Given the description of an element on the screen output the (x, y) to click on. 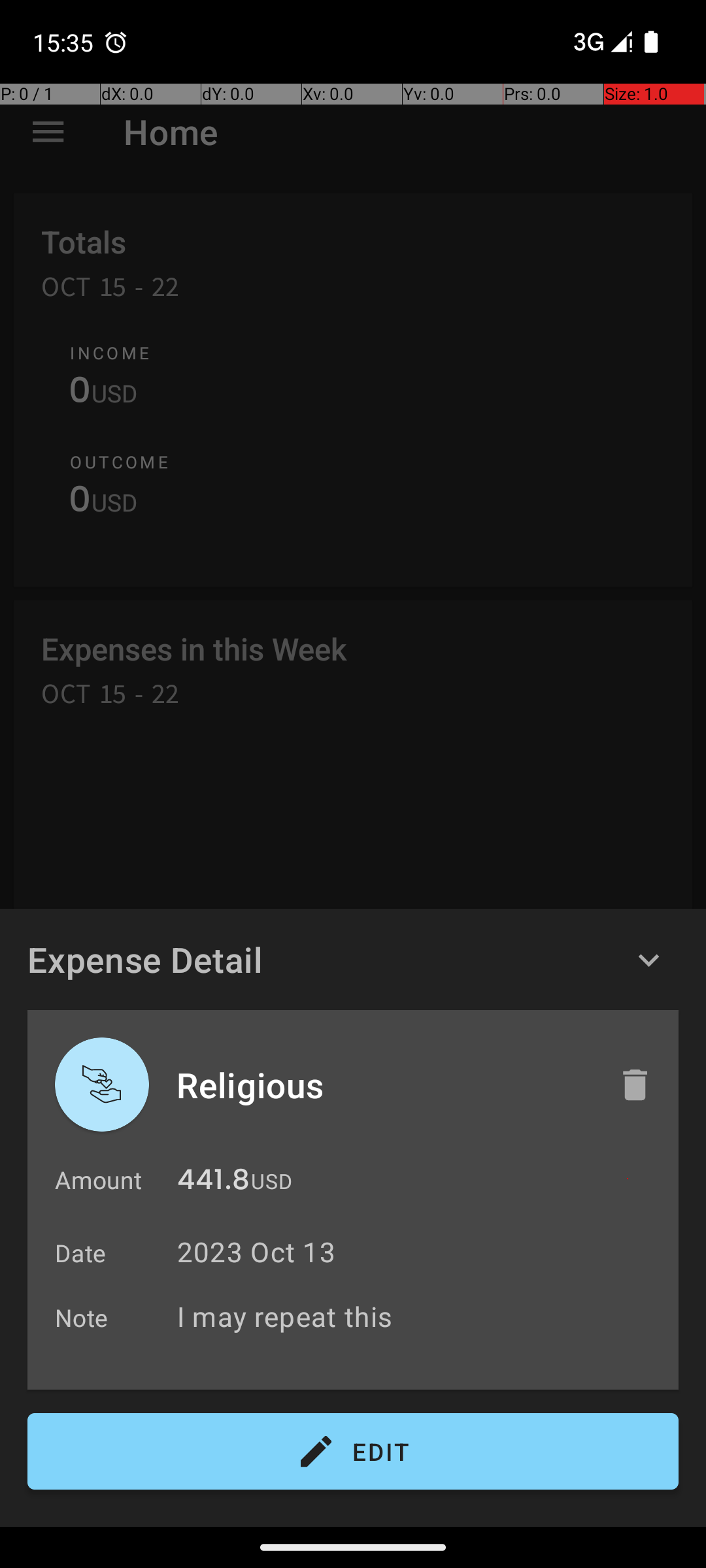
441.8 Element type: android.widget.TextView (213, 1182)
